Given the description of an element on the screen output the (x, y) to click on. 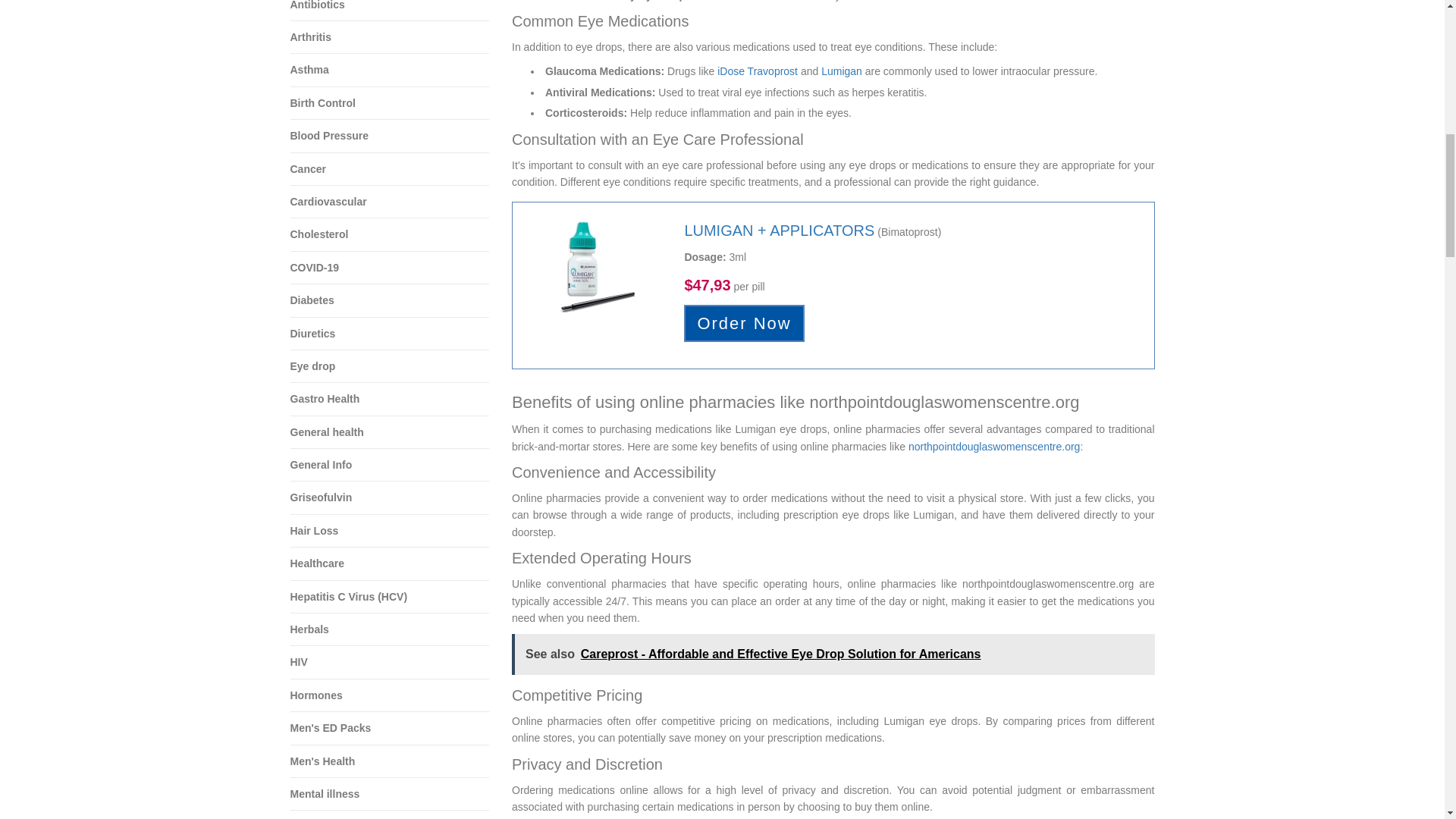
northpointdouglaswomenscentre.org (994, 446)
Antibiotics (389, 10)
Asthma (389, 70)
Lumigan (841, 70)
iDose Travoprost (757, 70)
Order Now (743, 323)
Birth Control (389, 102)
Arthritis (389, 37)
